Given the description of an element on the screen output the (x, y) to click on. 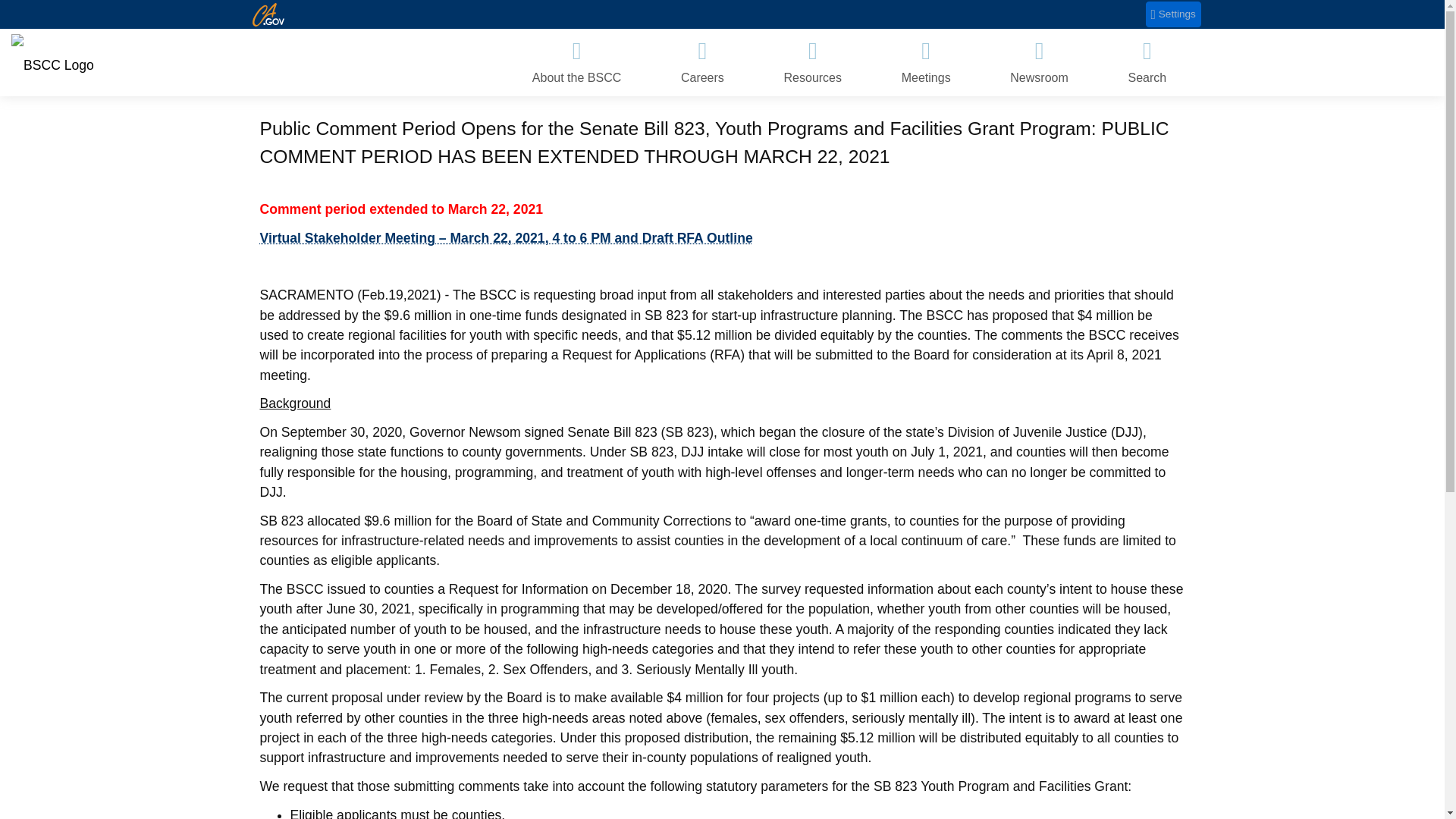
CA.gov website (267, 14)
About the BSCC (576, 62)
Newsroom (1038, 62)
CA.gov (267, 14)
Meetings (924, 62)
Resources (812, 62)
Search (1146, 62)
Careers (702, 62)
Settings (1173, 14)
